Given the description of an element on the screen output the (x, y) to click on. 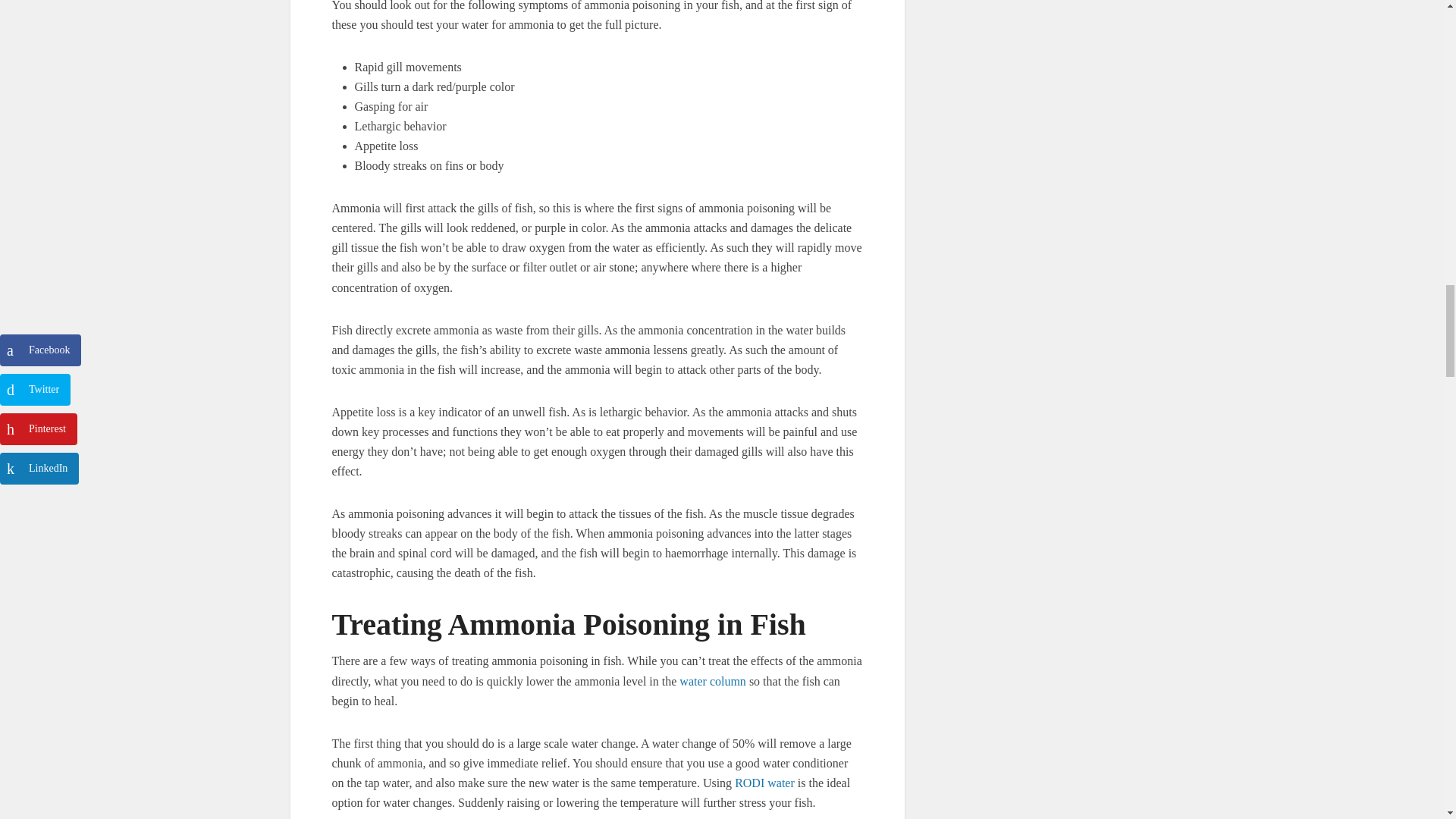
water column (712, 680)
RODI water (764, 782)
